Given the description of an element on the screen output the (x, y) to click on. 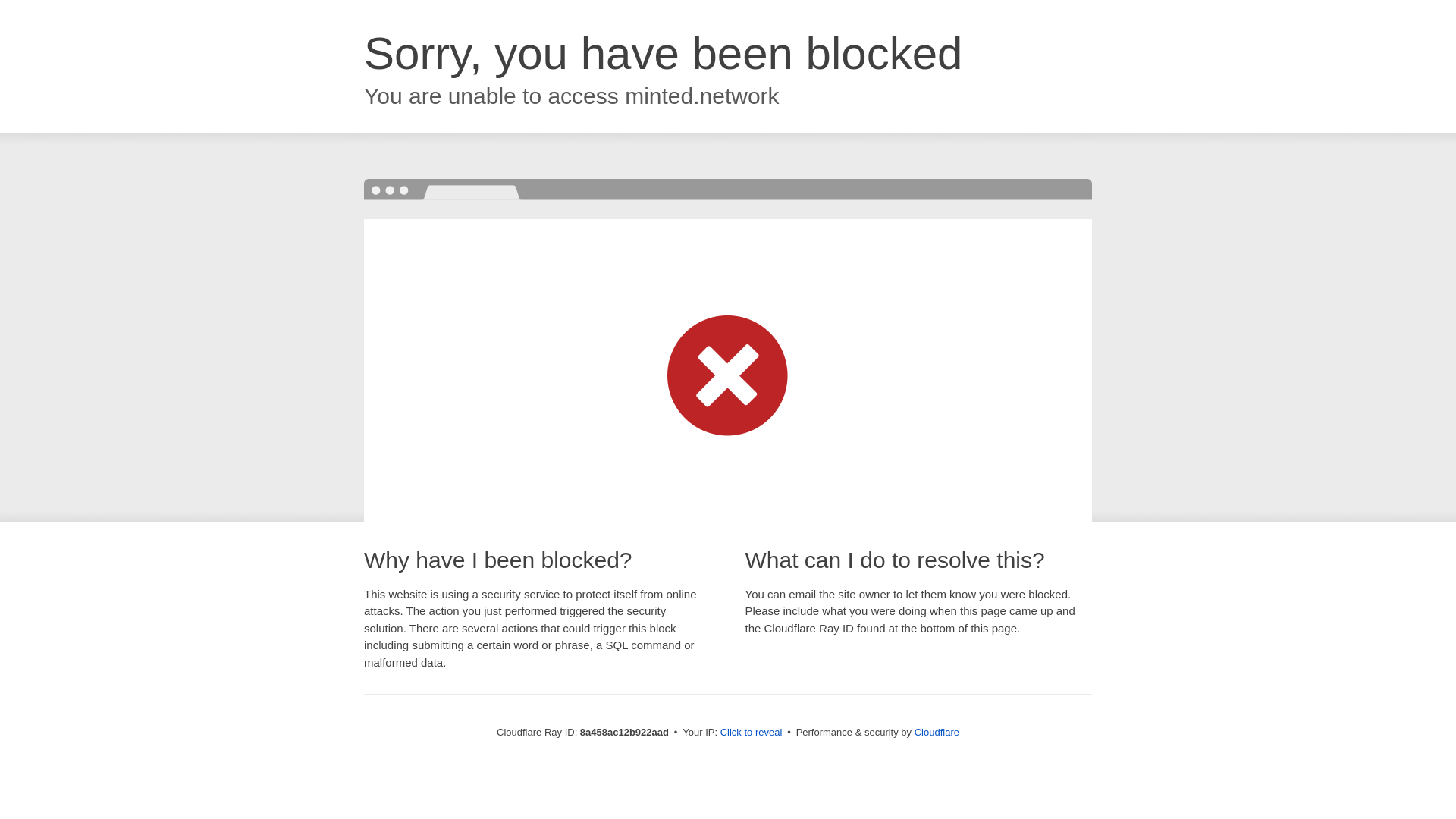
Cloudflare (936, 731)
Click to reveal (751, 732)
